Given the description of an element on the screen output the (x, y) to click on. 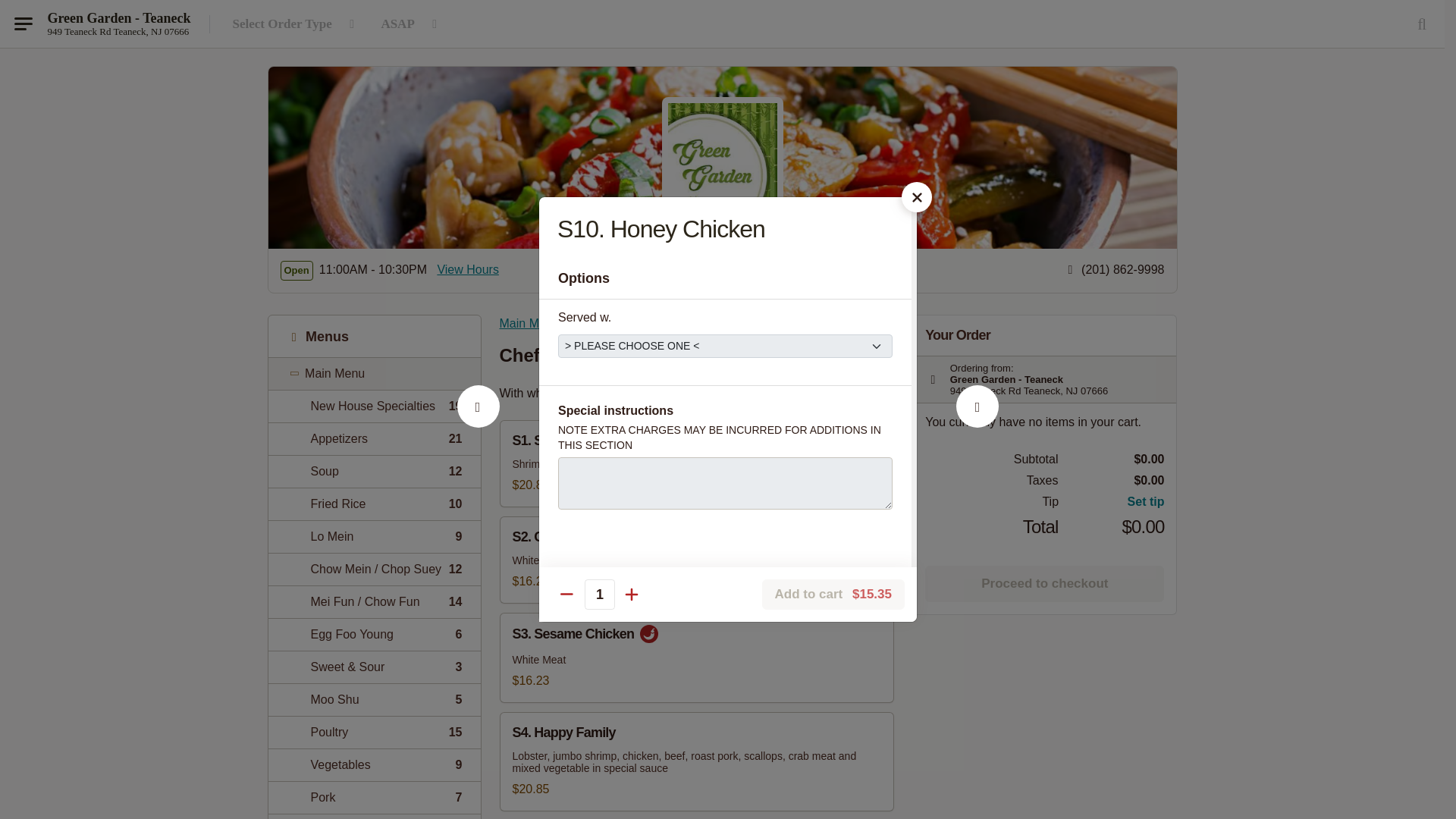
Green Garden - Teaneck (118, 17)
Select Order Type (373, 503)
Choose a Served w. (296, 23)
Proceed to checkout (373, 405)
S11. Peking Shrimp (373, 797)
Add tip (724, 345)
S9. Lemon Chicken (373, 536)
949 Teaneck Rd Teaneck, NJ 07666 (1043, 583)
